Given the description of an element on the screen output the (x, y) to click on. 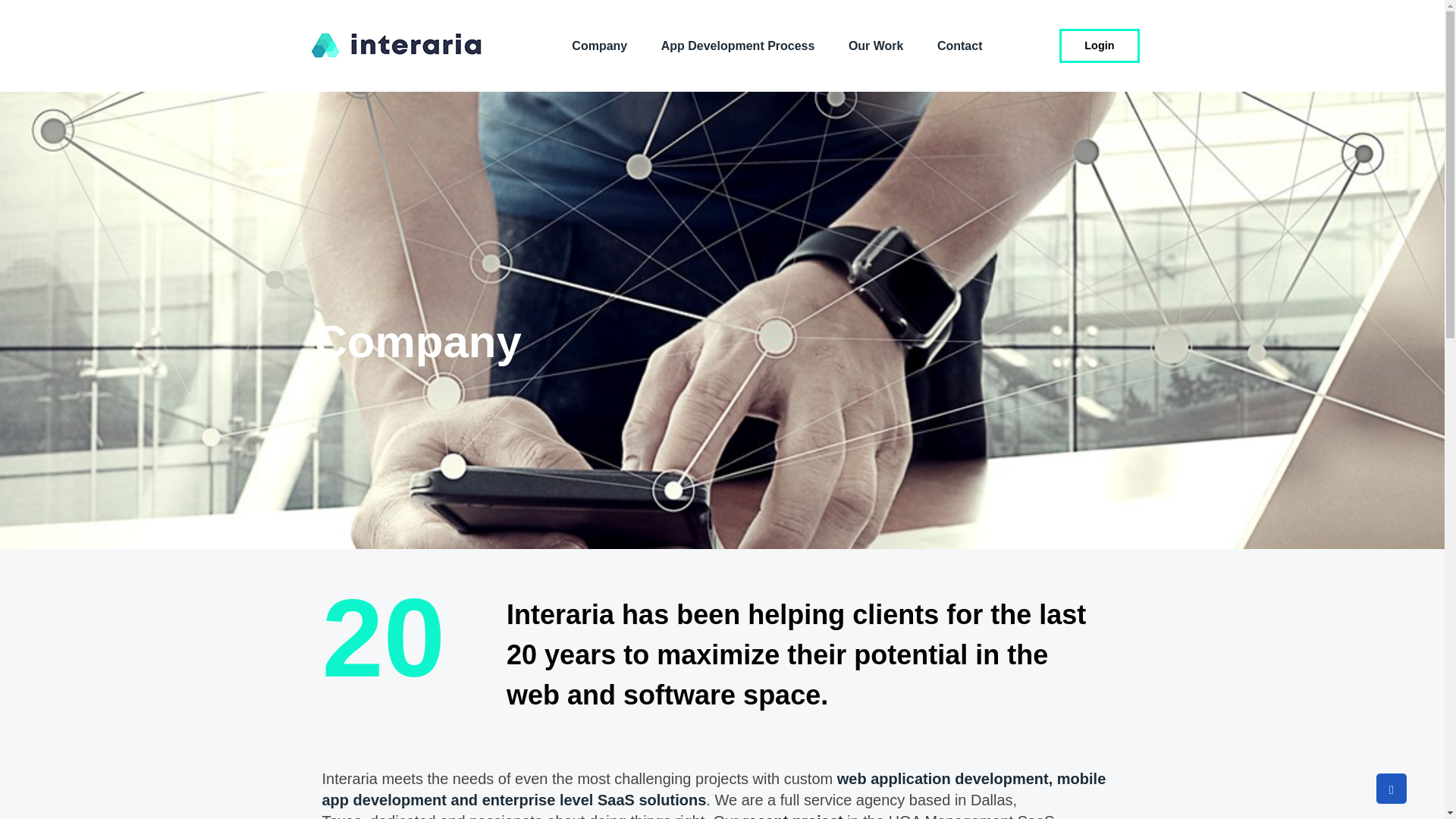
recent project (792, 816)
Our Work (875, 45)
Company (599, 45)
App Development Process (737, 45)
Login (1098, 45)
Contact (959, 45)
